Given the description of an element on the screen output the (x, y) to click on. 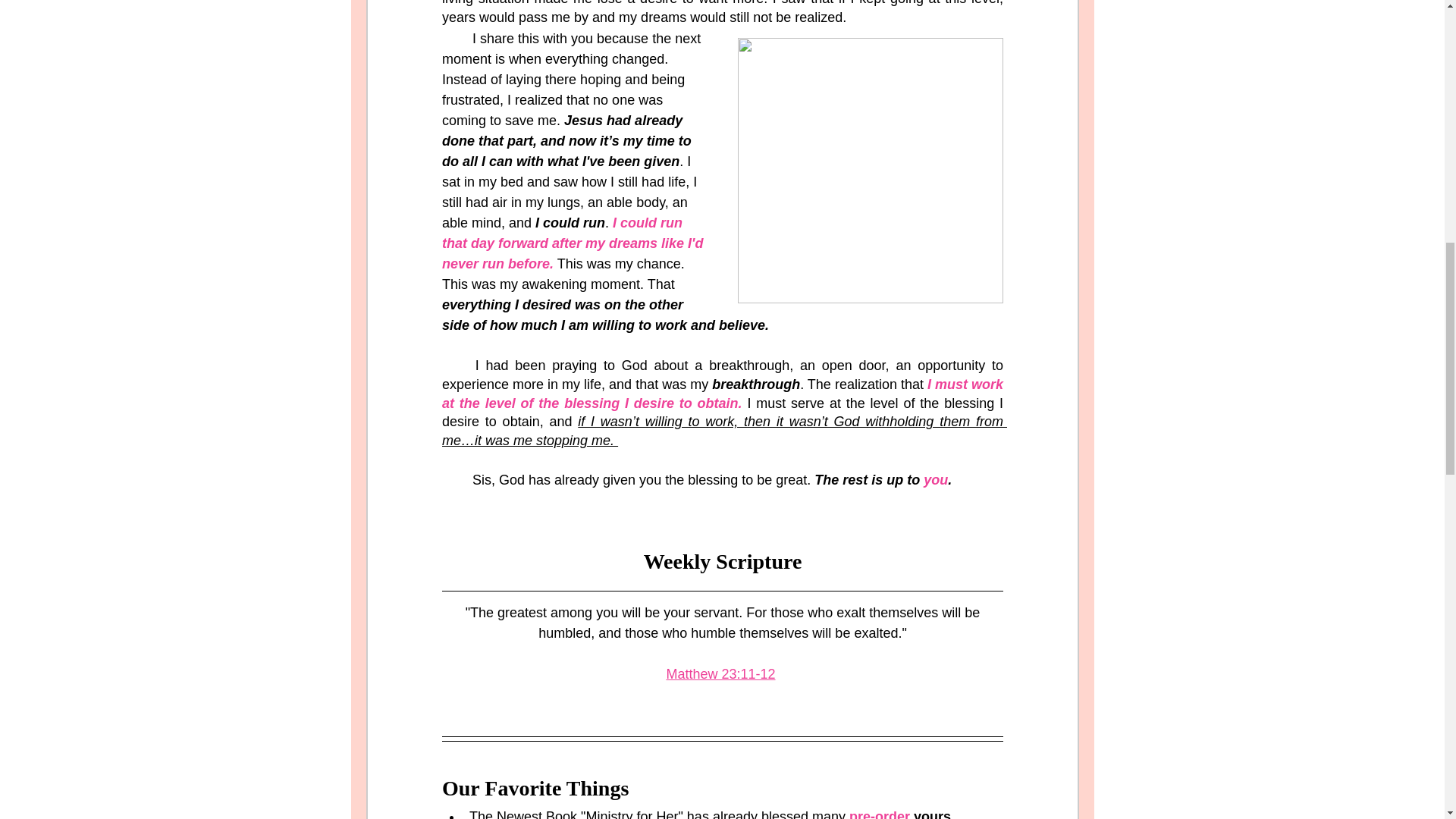
pre-order (879, 814)
Matthew 23:11-12 (719, 674)
